Given the description of an element on the screen output the (x, y) to click on. 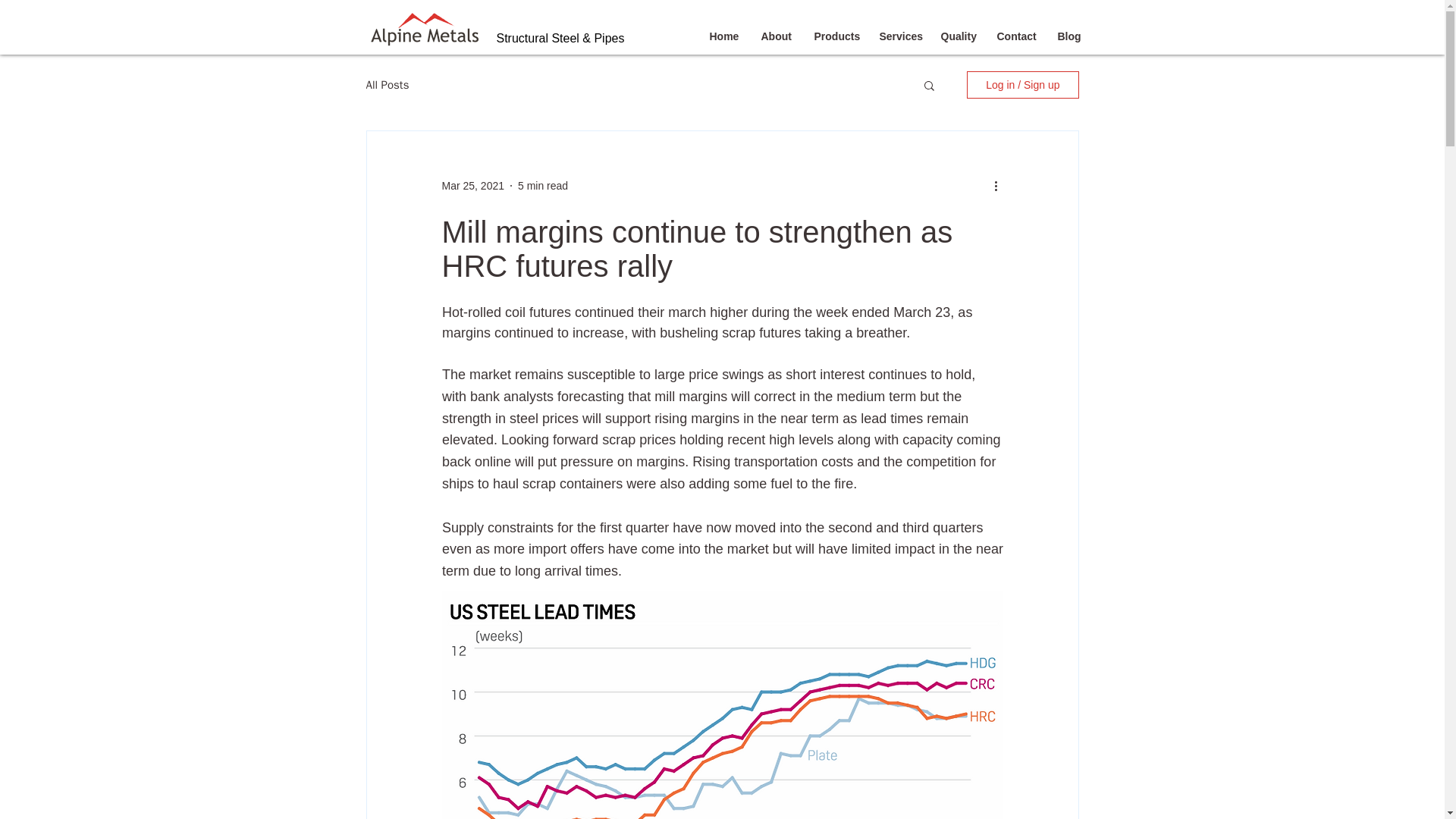
All Posts (387, 83)
Contact (1015, 36)
Services (897, 36)
Products (834, 36)
Home (723, 36)
About (775, 36)
Blog (1068, 36)
5 min read (542, 184)
Mar 25, 2021 (472, 184)
Quality (957, 36)
